Given the description of an element on the screen output the (x, y) to click on. 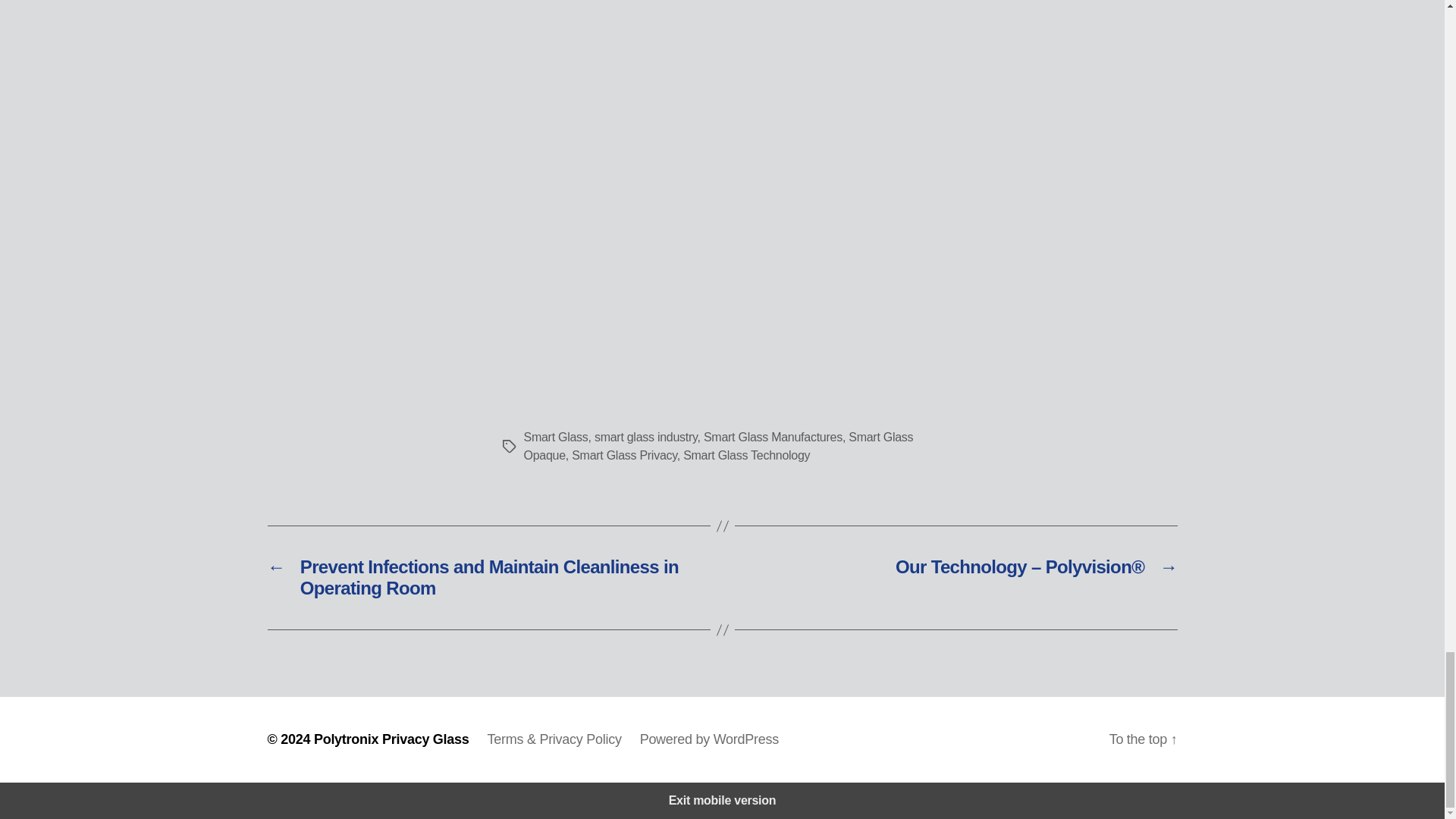
Smart Glass Manufactures (773, 436)
Smart Glass (555, 436)
Smart Glass Opaque (717, 445)
smart glass industry (645, 436)
Smart Glass Technology (745, 454)
Smart Glass Privacy (624, 454)
